Given the description of an element on the screen output the (x, y) to click on. 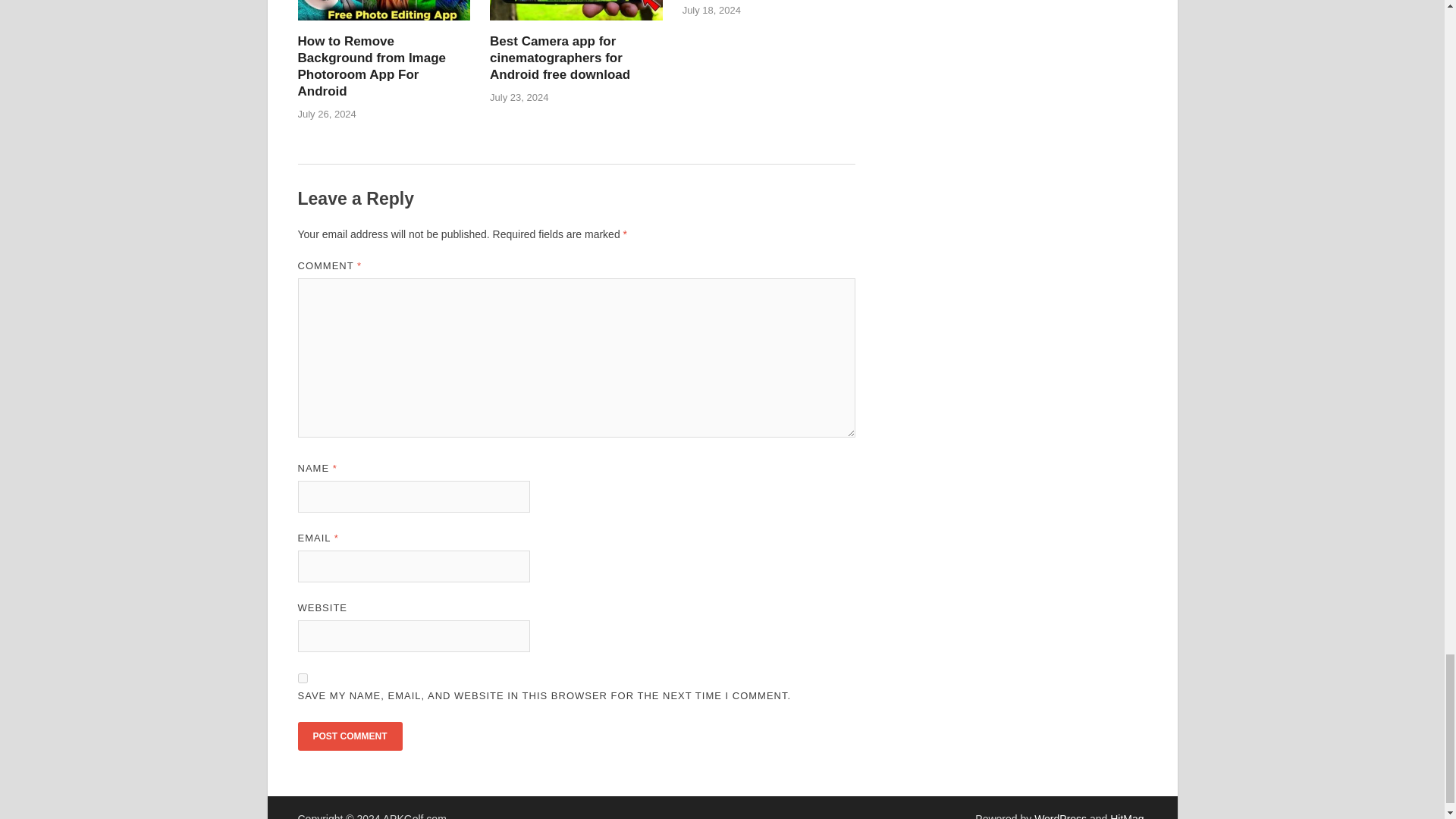
Post Comment (349, 736)
yes (302, 678)
